Given the description of an element on the screen output the (x, y) to click on. 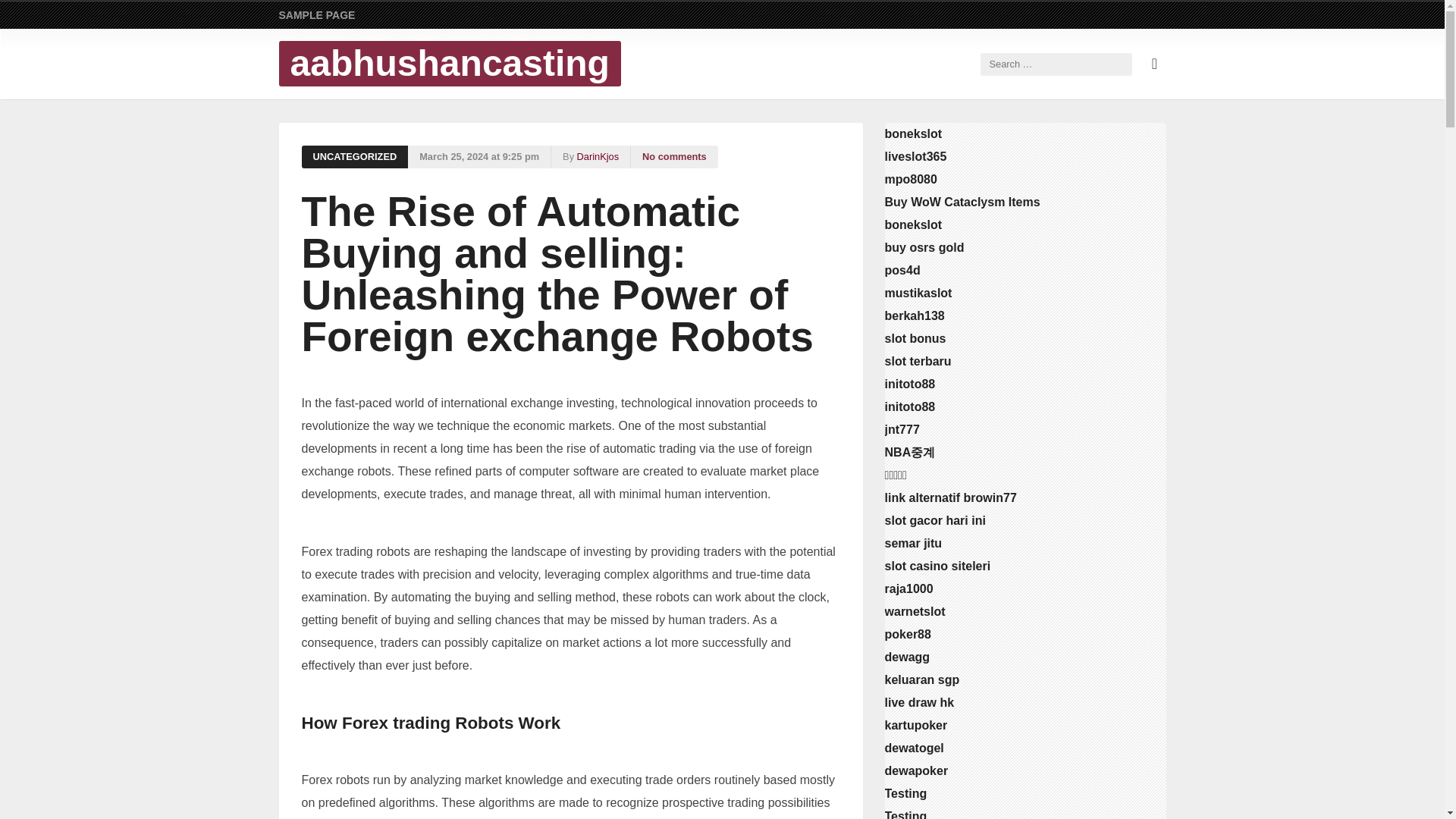
dewagg (907, 656)
liveslot365 (916, 155)
semar jitu (913, 543)
slot gacor hari ini (935, 520)
raja1000 (909, 588)
berkah138 (914, 315)
aabhushancasting (448, 63)
initoto88 (910, 406)
Search (37, 17)
mpo8080 (911, 178)
warnetslot (914, 611)
jnt777 (902, 429)
DarinKjos (597, 156)
bonekslot (913, 224)
initoto88 (910, 383)
